Given the description of an element on the screen output the (x, y) to click on. 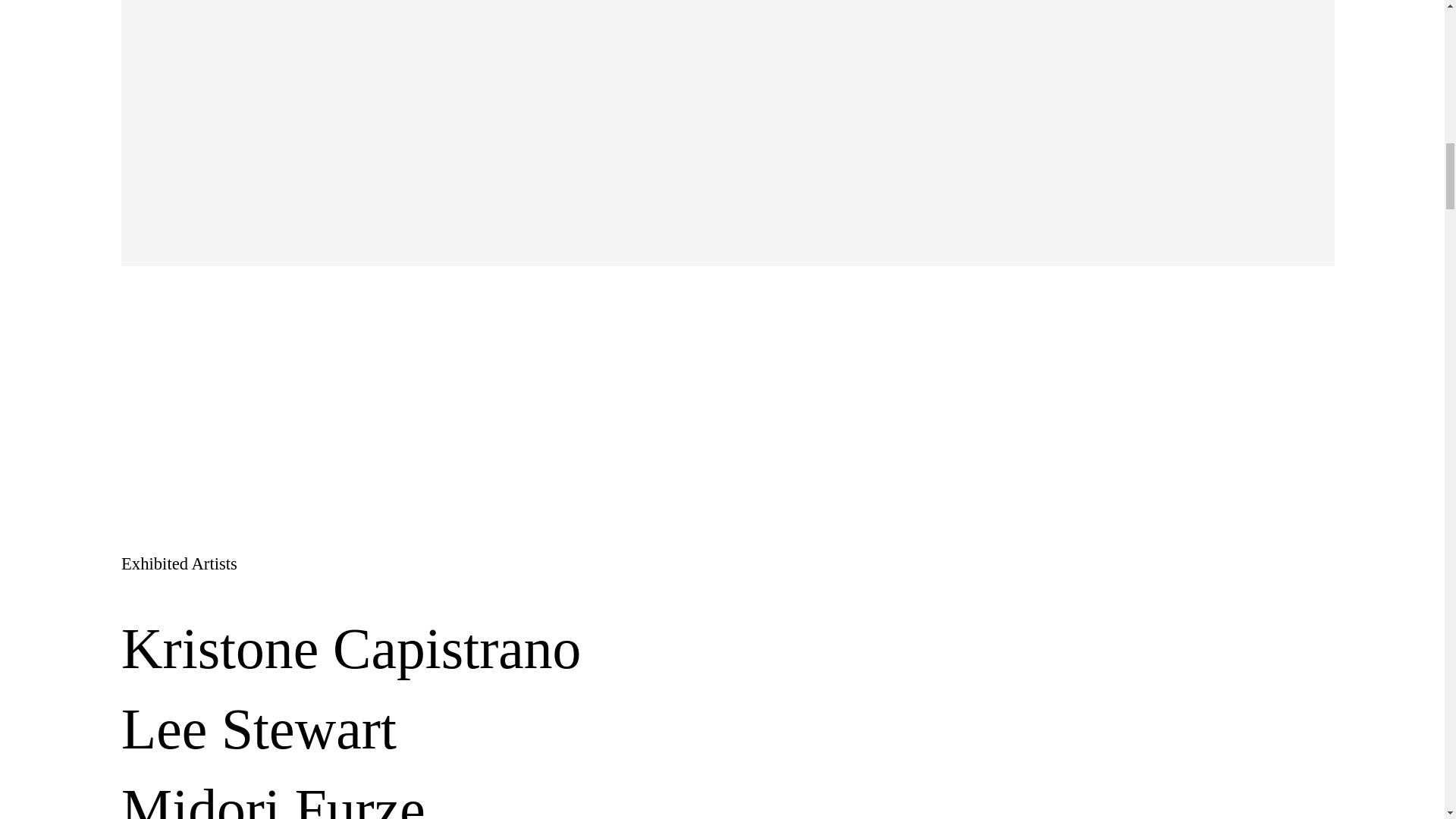
Kristone Capistrano (350, 649)
Lee Stewart (257, 729)
Midori Furze (272, 794)
